Given the description of an element on the screen output the (x, y) to click on. 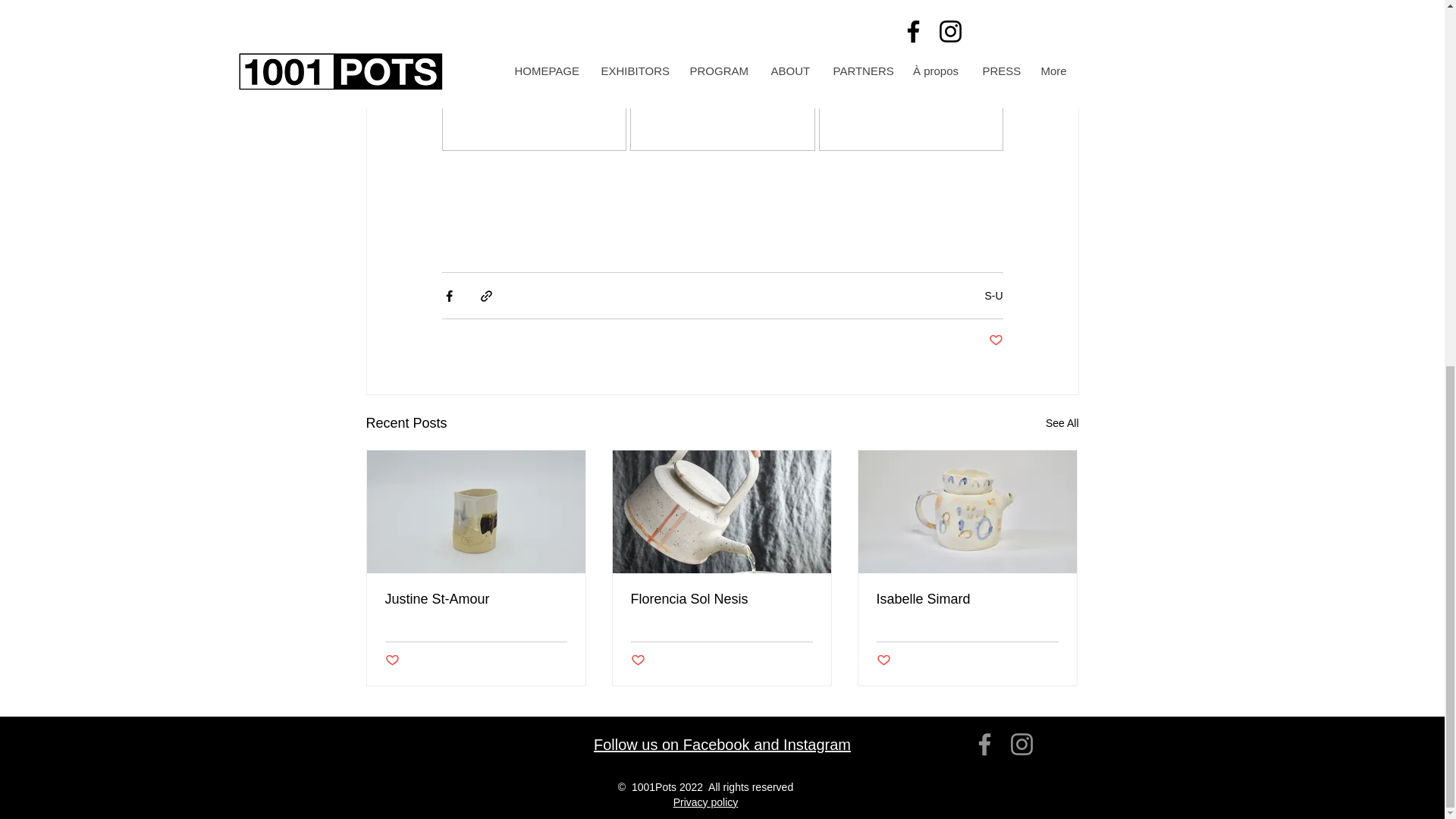
See All (1061, 423)
Post not marked as liked (995, 340)
S-U (993, 295)
Justine St-Amour (476, 599)
